Given the description of an element on the screen output the (x, y) to click on. 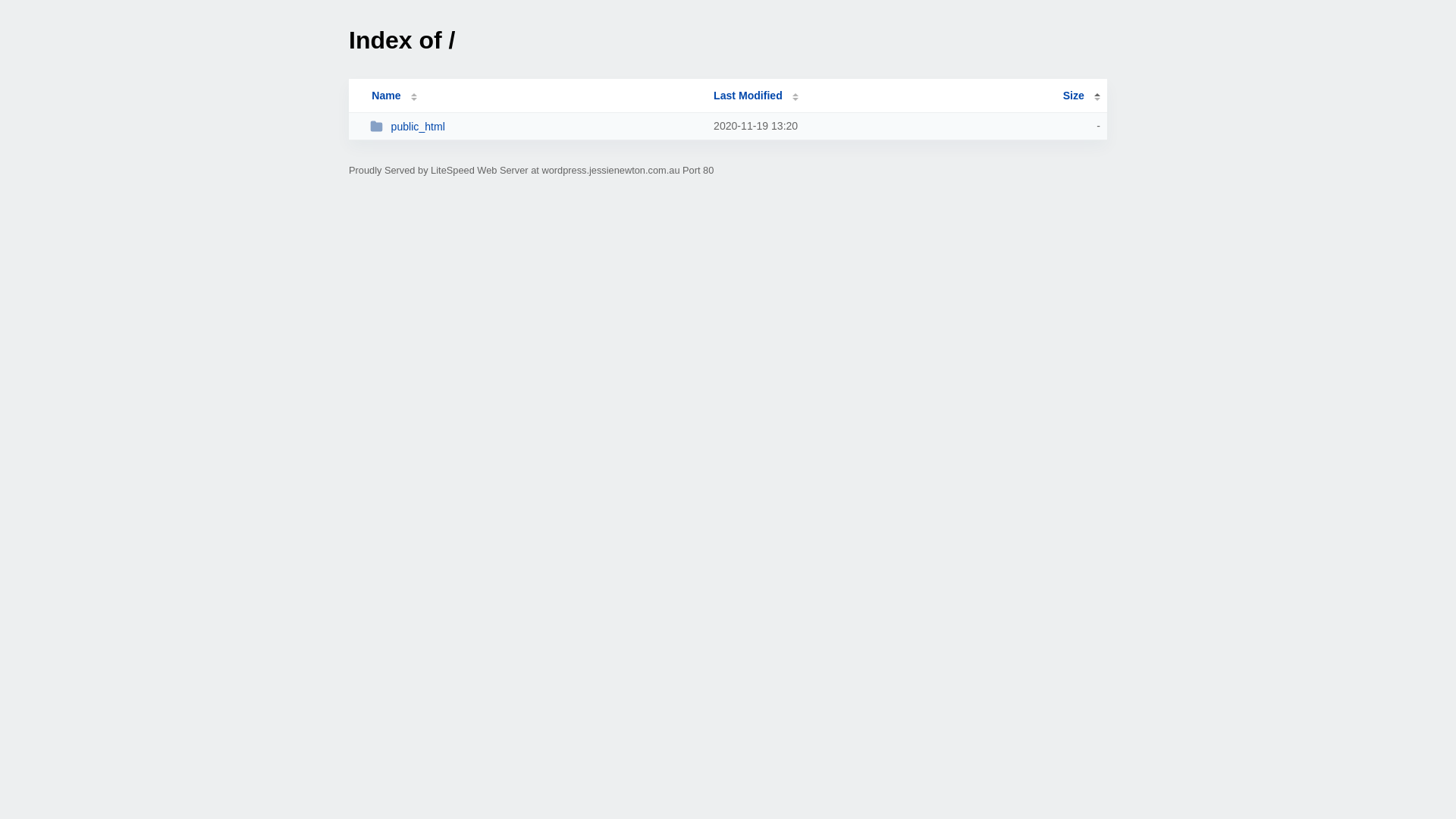
Name Element type: text (385, 95)
Last Modified Element type: text (755, 95)
Size Element type: text (1081, 95)
public_html Element type: text (534, 125)
